Given the description of an element on the screen output the (x, y) to click on. 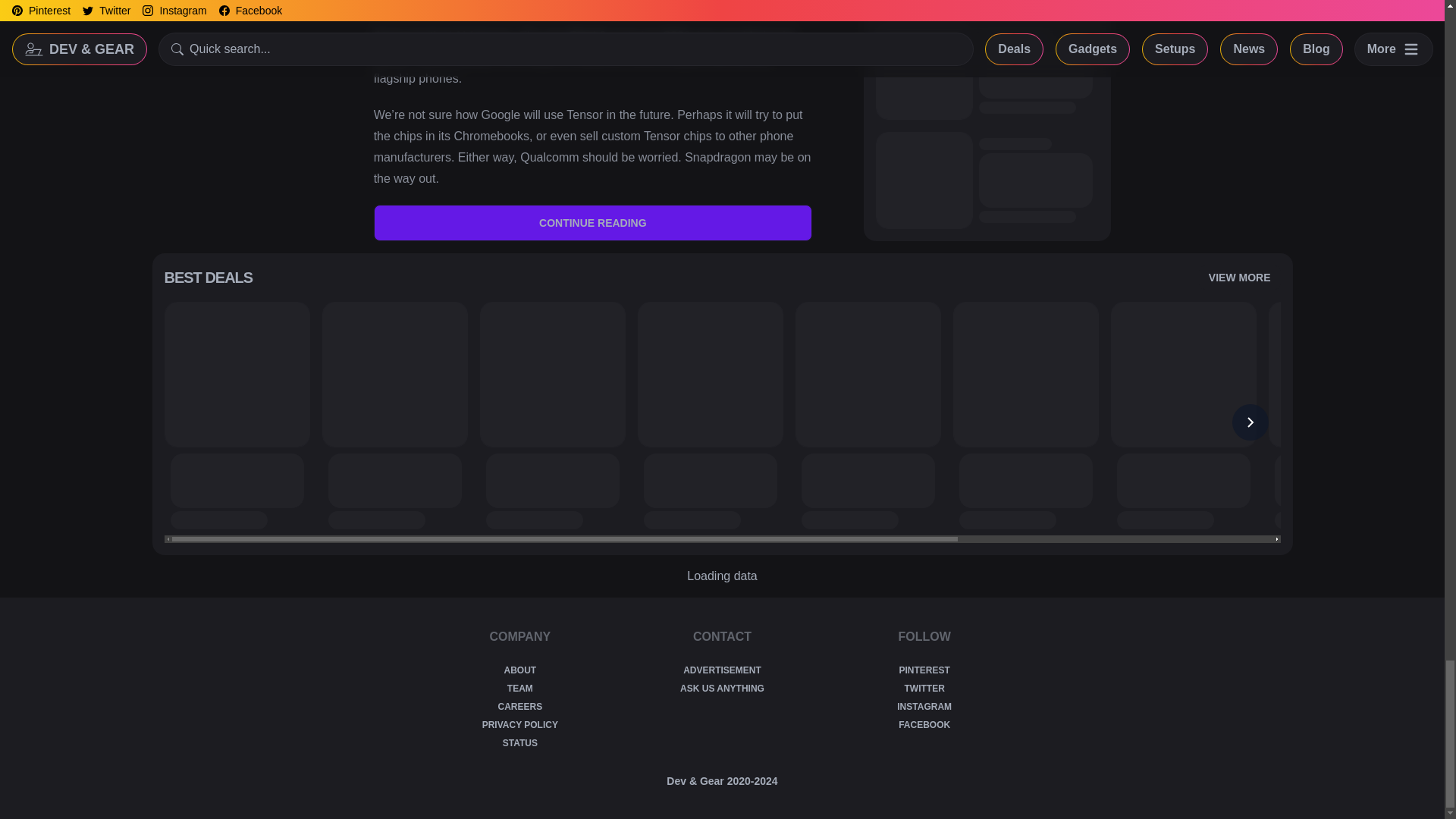
Pixel 6 (587, 35)
CONTINUE READING (593, 222)
